Given the description of an element on the screen output the (x, y) to click on. 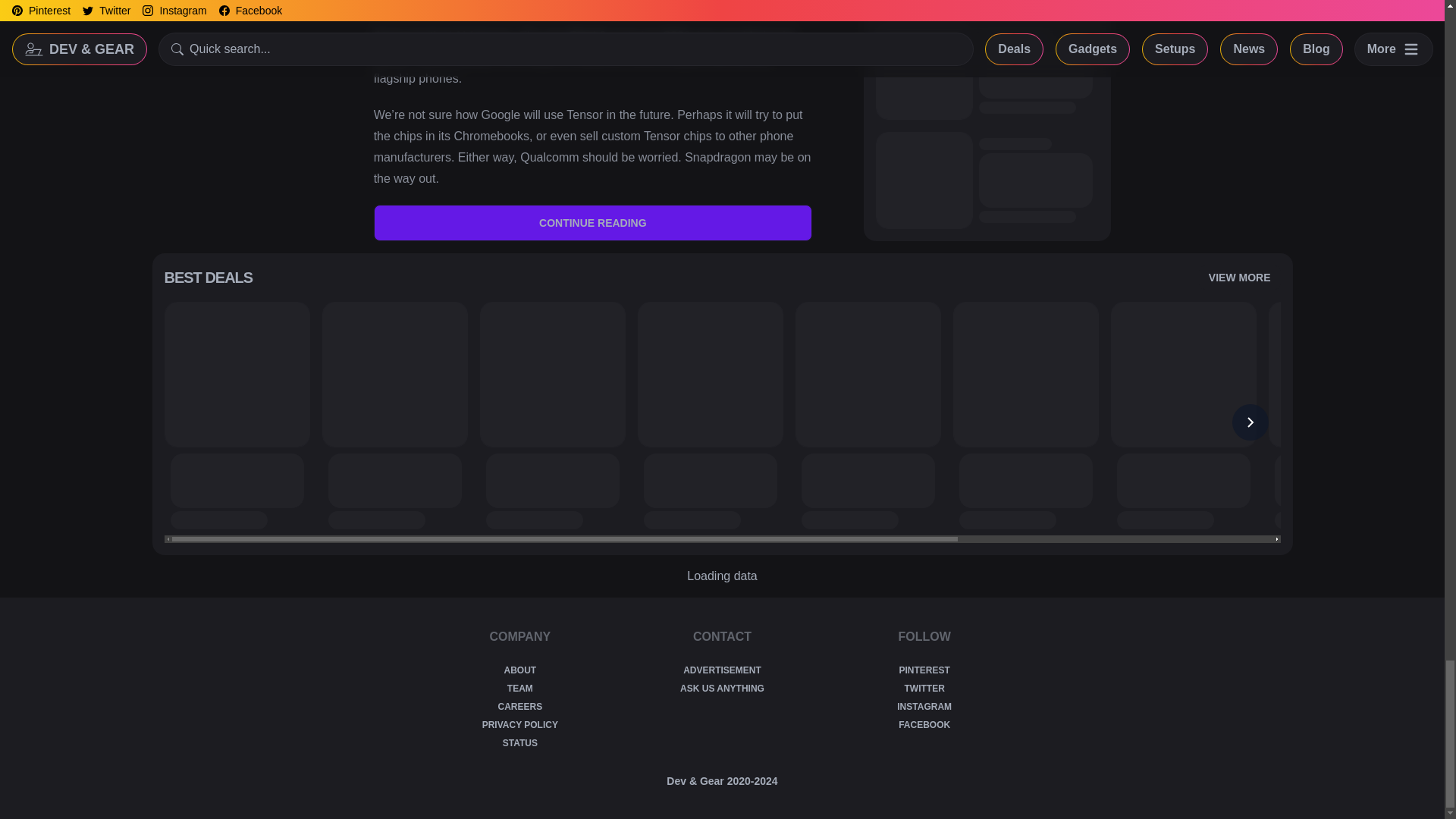
Pixel 6 (587, 35)
CONTINUE READING (593, 222)
